Given the description of an element on the screen output the (x, y) to click on. 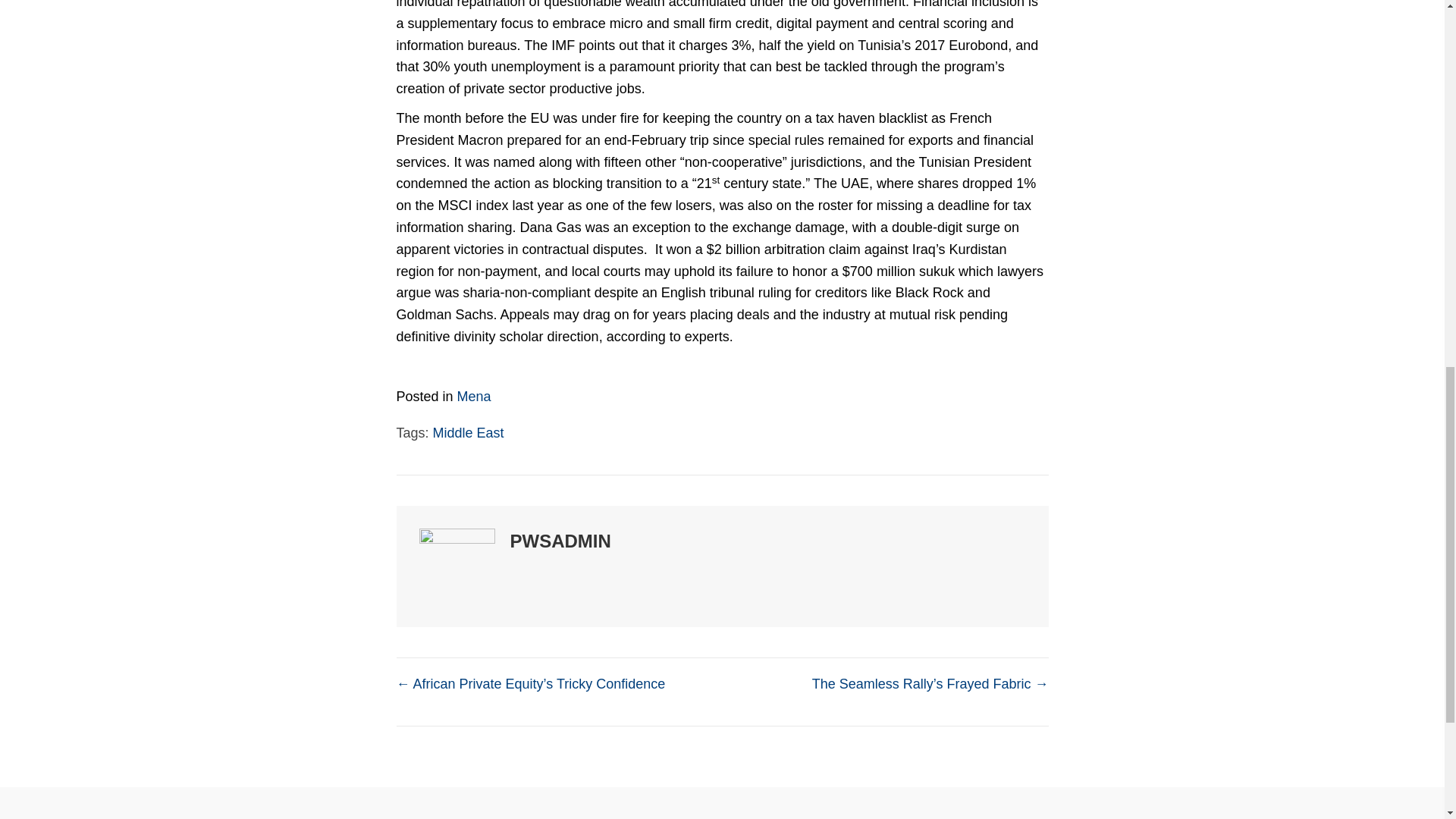
Middle East (467, 432)
Mena (474, 396)
